Given the description of an element on the screen output the (x, y) to click on. 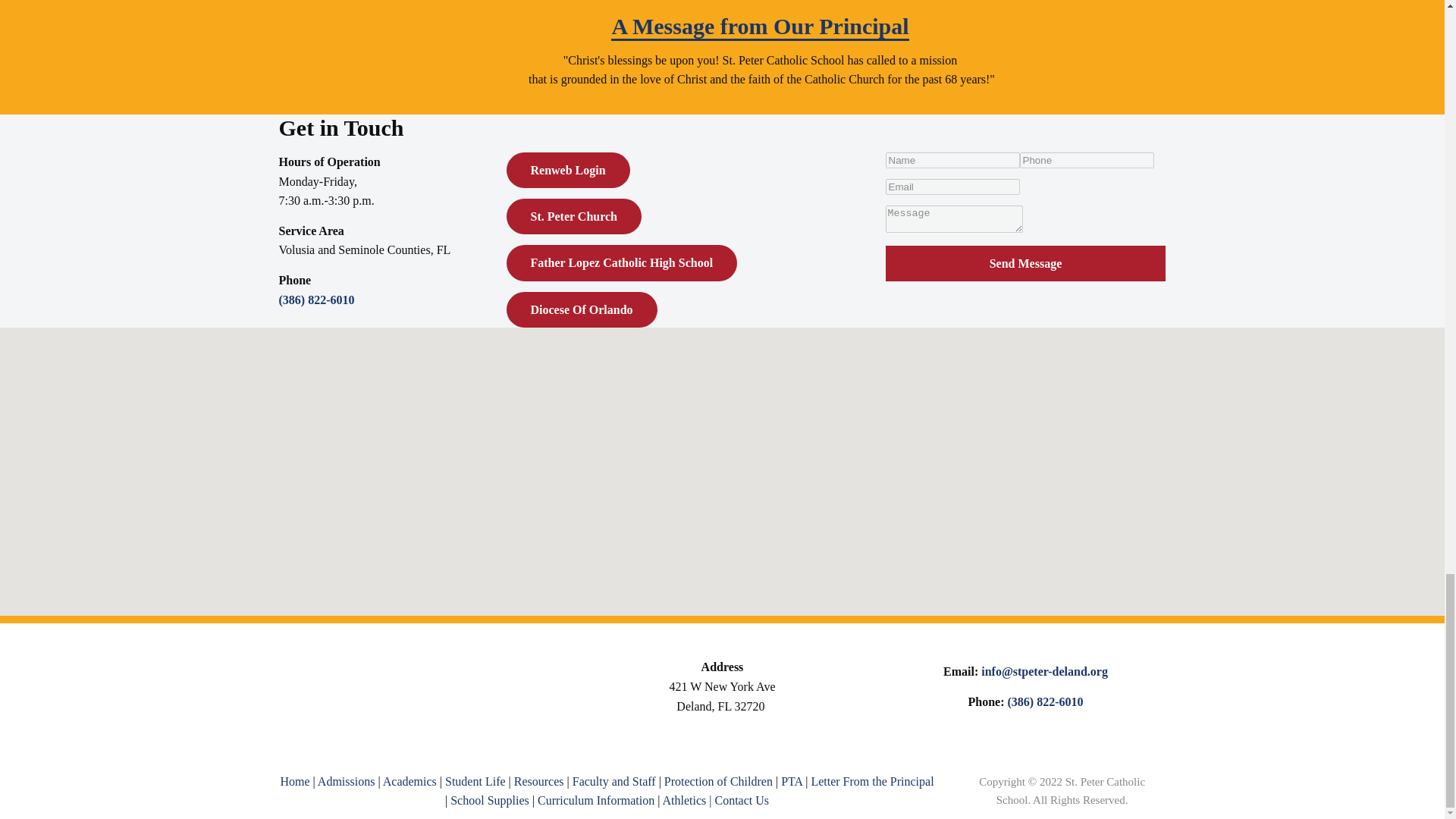
Diocese Of Orlando (582, 309)
Father Lopez Catholic High School (622, 262)
Home (293, 781)
Renweb Login (568, 170)
St. Peter Church (574, 216)
Send Message (1025, 263)
A Message from Our Principal (759, 26)
